Given the description of an element on the screen output the (x, y) to click on. 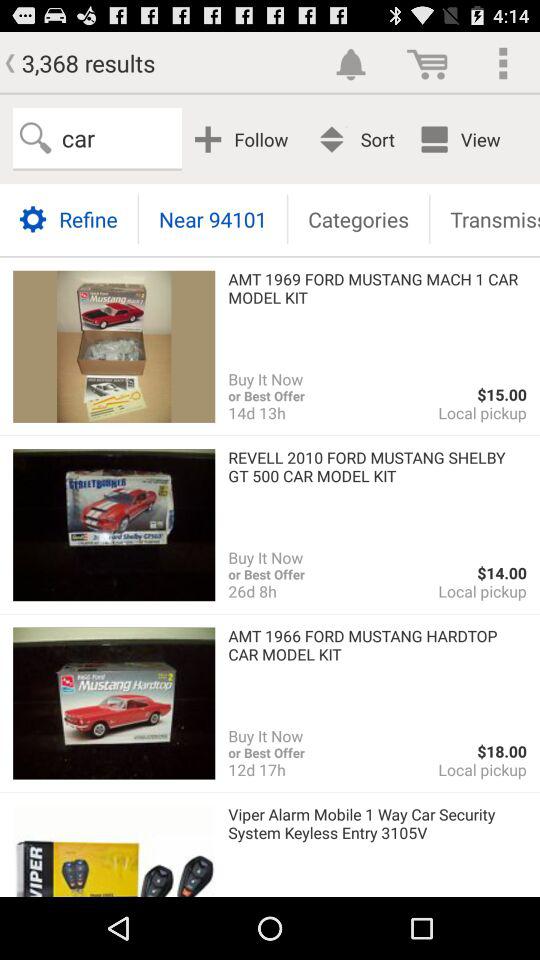
press app next to the car item (244, 138)
